Given the description of an element on the screen output the (x, y) to click on. 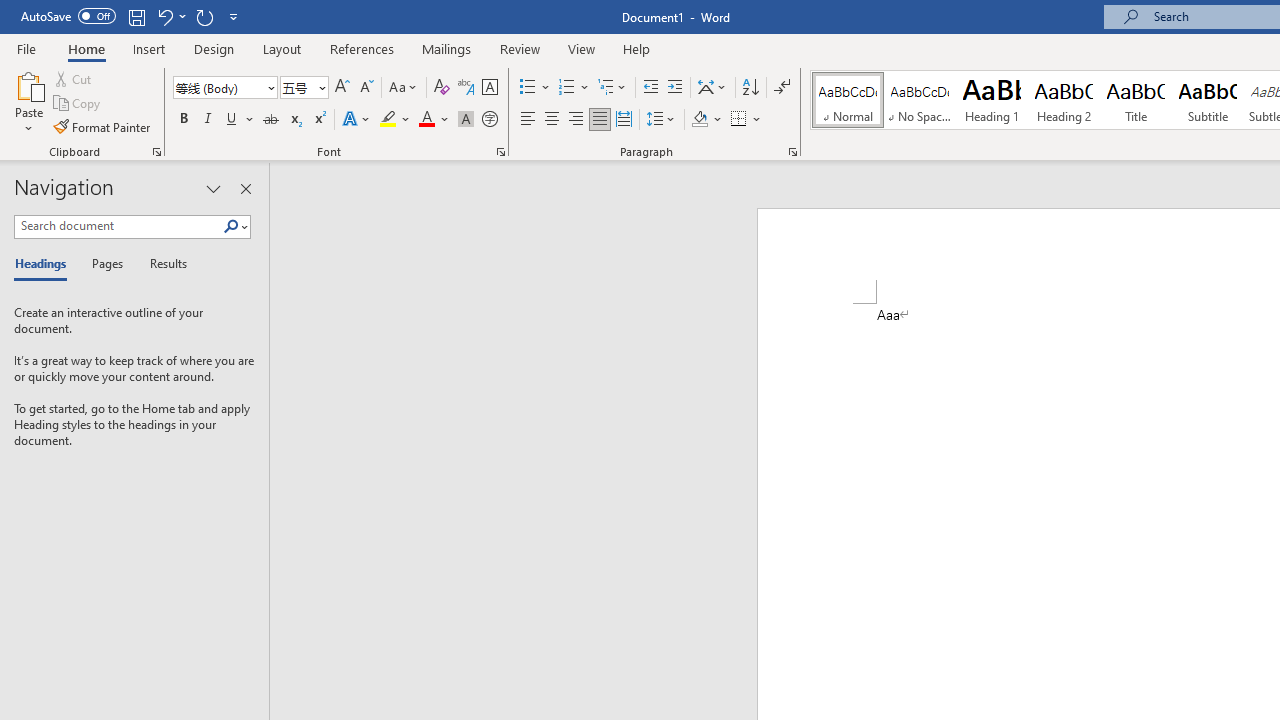
Clear Formatting (442, 87)
Title (1135, 100)
Shading (706, 119)
Character Shading (465, 119)
Paste (28, 102)
Numbering (566, 87)
Quick Access Toolbar (131, 16)
Search document (118, 226)
More Options (757, 119)
Borders (746, 119)
Layout (282, 48)
Font Size (297, 87)
Shrink Font (365, 87)
Help (637, 48)
